Given the description of an element on the screen output the (x, y) to click on. 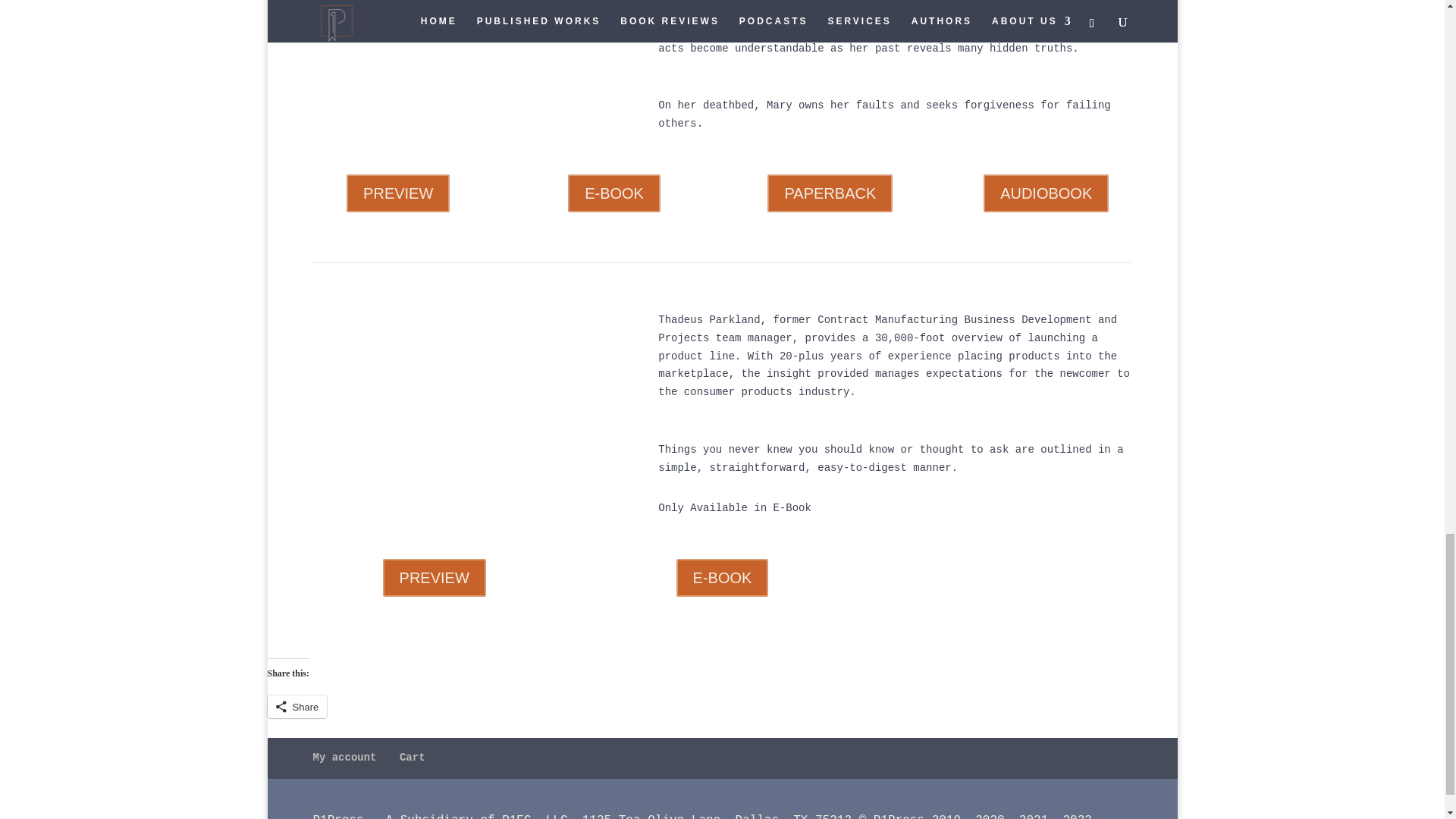
PAPERBACK (829, 193)
Share (296, 706)
My account (344, 757)
Cart (411, 757)
PREVIEW (397, 193)
AUDIOBOOK (1046, 193)
E-BOOK (722, 577)
PREVIEW (434, 577)
E-BOOK (614, 193)
